Given the description of an element on the screen output the (x, y) to click on. 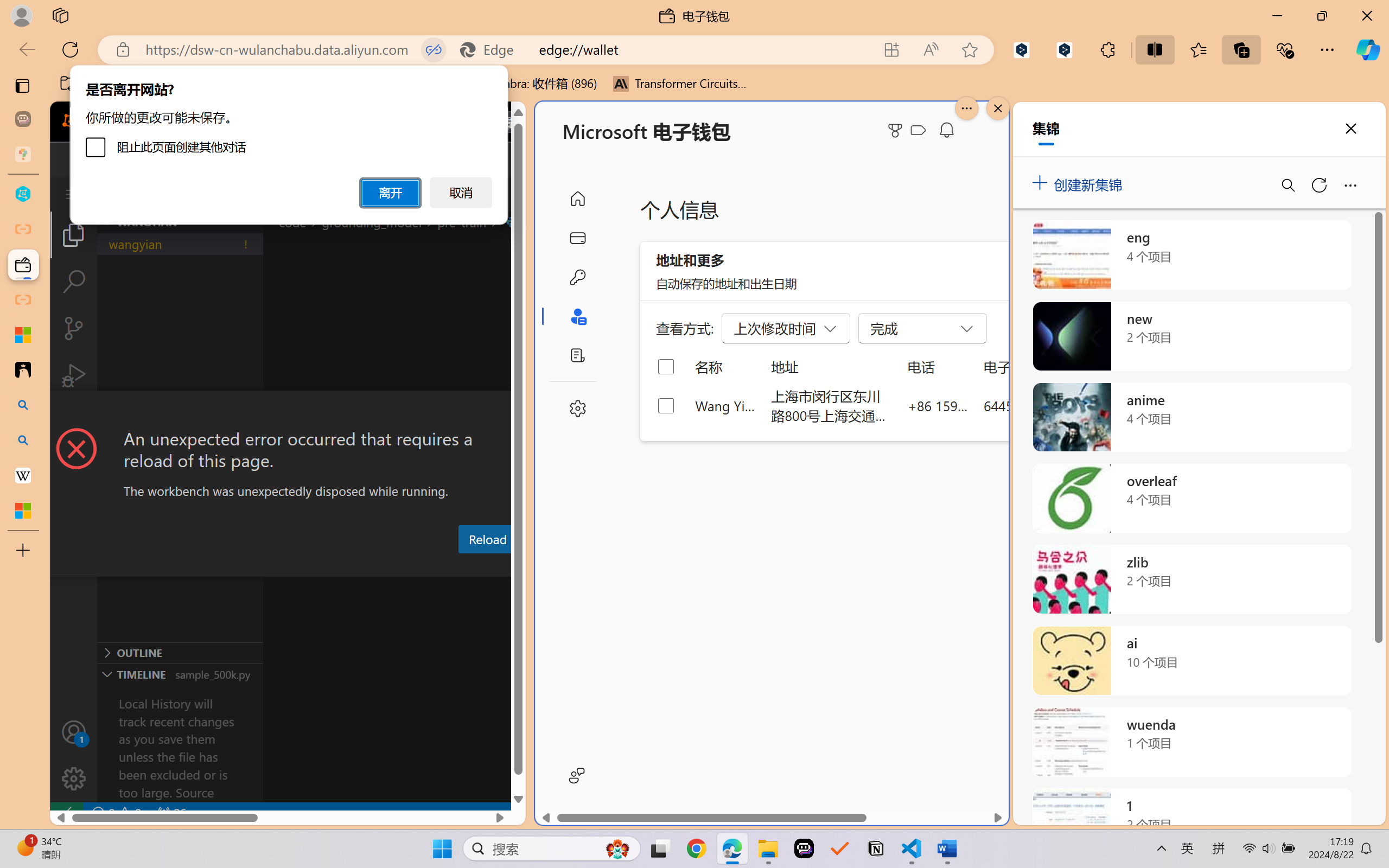
Wang Yian (725, 405)
Reload (486, 538)
Manage (73, 778)
